Given the description of an element on the screen output the (x, y) to click on. 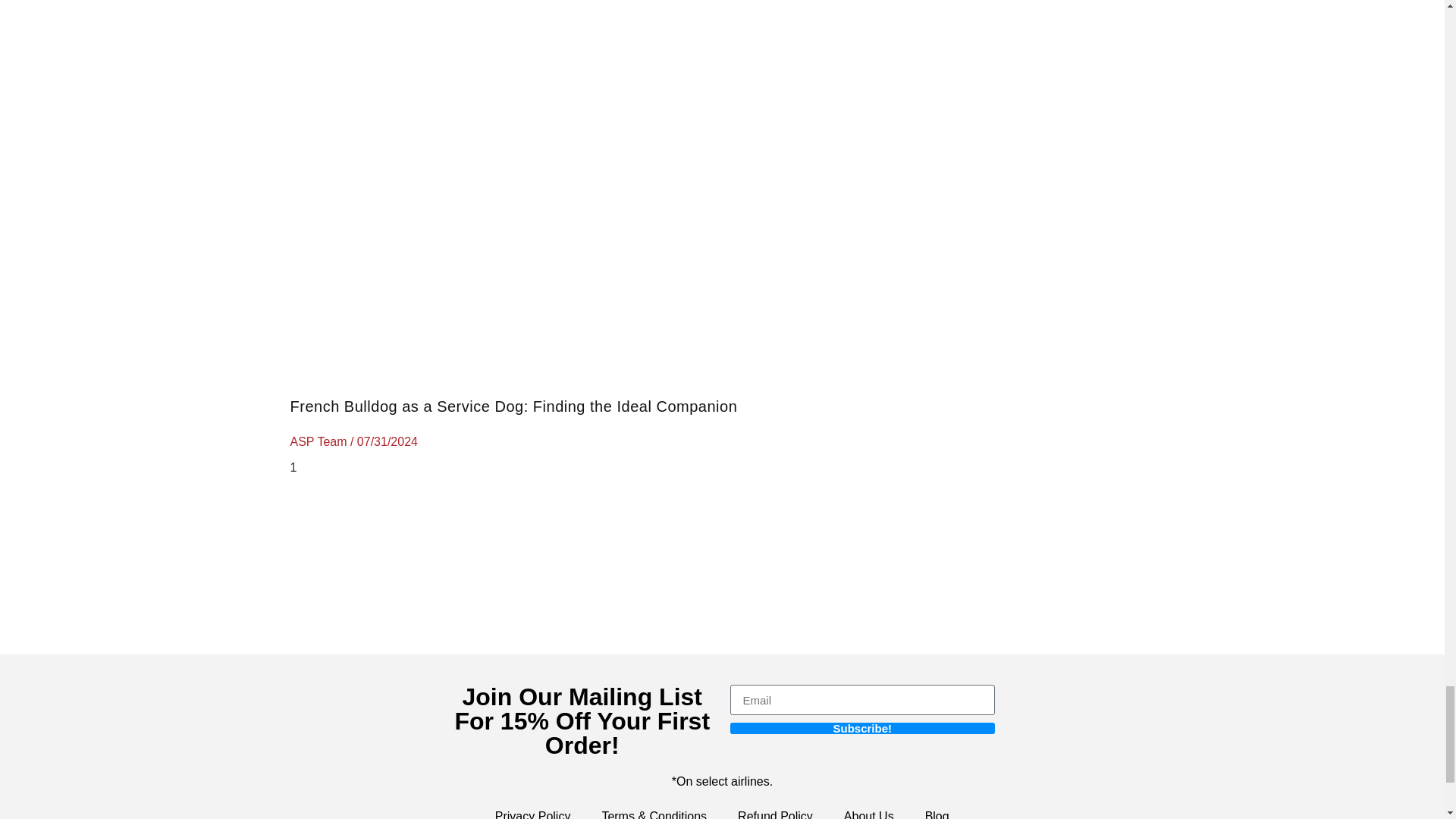
French Bulldog as a Service Dog: Finding the Ideal Companion (512, 406)
Subscribe! (861, 727)
Refund Policy (775, 812)
Privacy Policy (533, 812)
